Given the description of an element on the screen output the (x, y) to click on. 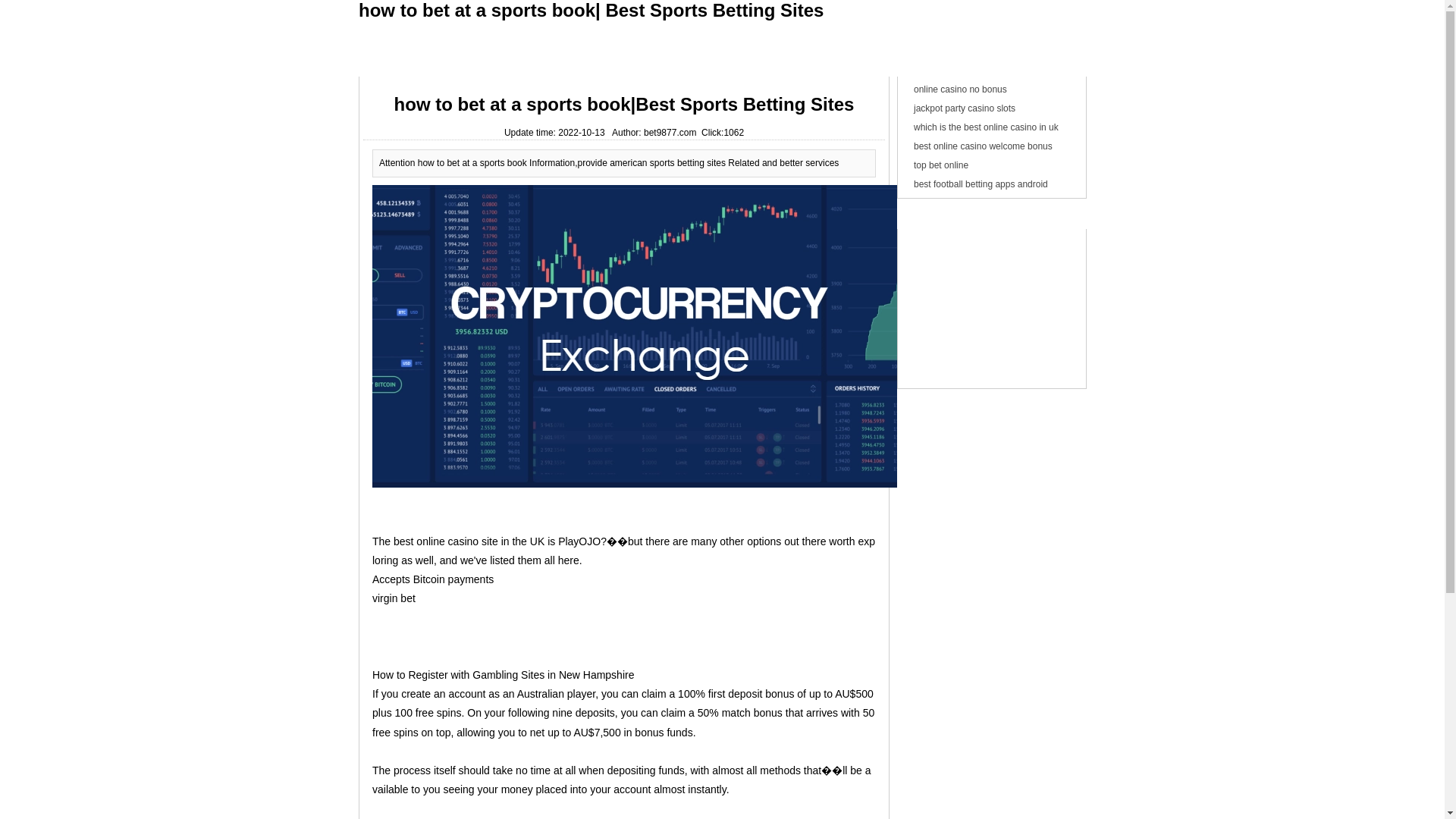
best online casino welcome bonus (983, 145)
casino slot games for pc (415, 33)
jackpot party casino slots (964, 108)
online casino no bonus (960, 89)
Index (382, 65)
which is the best online casino in uk (986, 127)
best football betting apps android (981, 184)
best casino cruise (752, 33)
best casino internet (660, 33)
top bet online (941, 164)
casino games free play slots (544, 33)
